Given the description of an element on the screen output the (x, y) to click on. 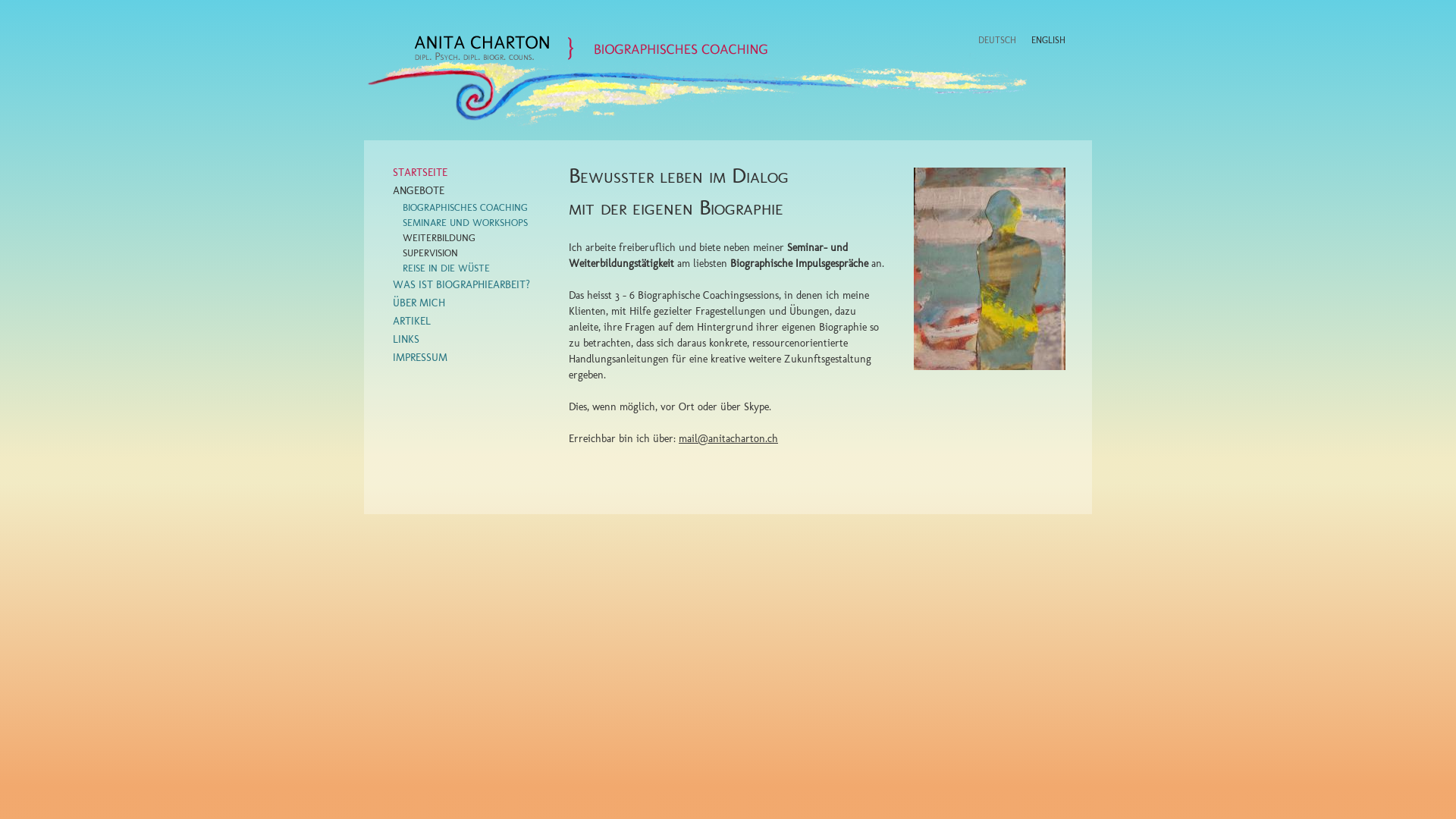
DEUTSCH Element type: text (997, 39)
LINKS Element type: text (405, 338)
ARTIKEL Element type: text (411, 320)
SEMINARE UND WORKSHOPS Element type: text (464, 222)
IMPRESSUM Element type: text (419, 357)
STARTSEITE Element type: text (419, 172)
WAS IST BIOGRAPHIEARBEIT? Element type: text (461, 284)
ENGLISH Element type: text (1048, 39)
mail@anitacharton.ch Element type: text (728, 438)
Startseite Element type: hover (590, 47)
BIOGRAPHISCHES COACHING Element type: text (464, 207)
